Given the description of an element on the screen output the (x, y) to click on. 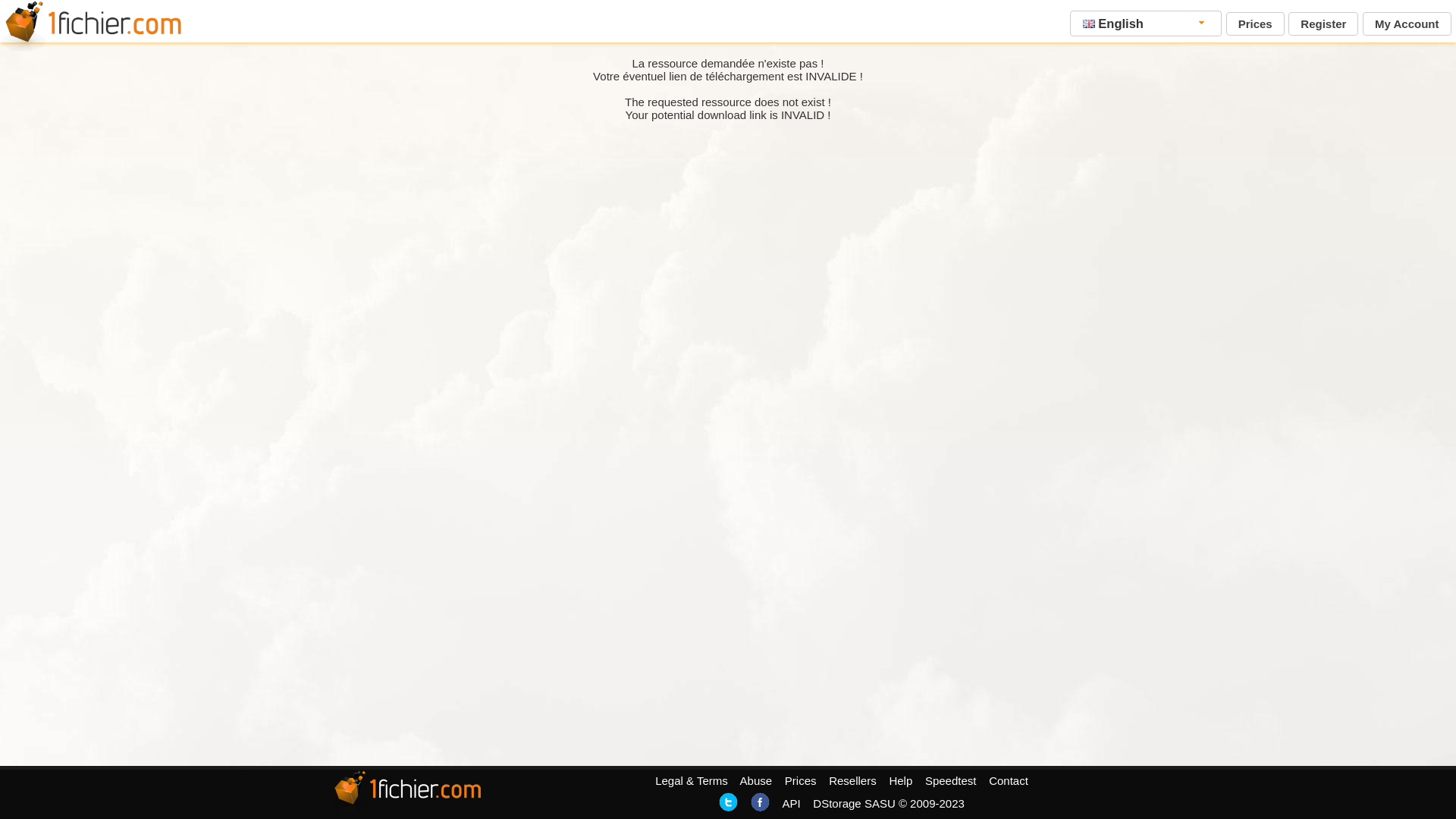
Prices Element type: text (800, 780)
Legal & Terms Element type: text (691, 780)
Contact Element type: text (1008, 780)
API Element type: text (790, 803)
Speedtest Element type: text (950, 780)
Help Element type: text (900, 780)
Abuse Element type: text (756, 780)
Resellers Element type: text (852, 780)
My Account Element type: text (1406, 23)
Prices Element type: text (1255, 23)
Register Element type: text (1323, 23)
